Given the description of an element on the screen output the (x, y) to click on. 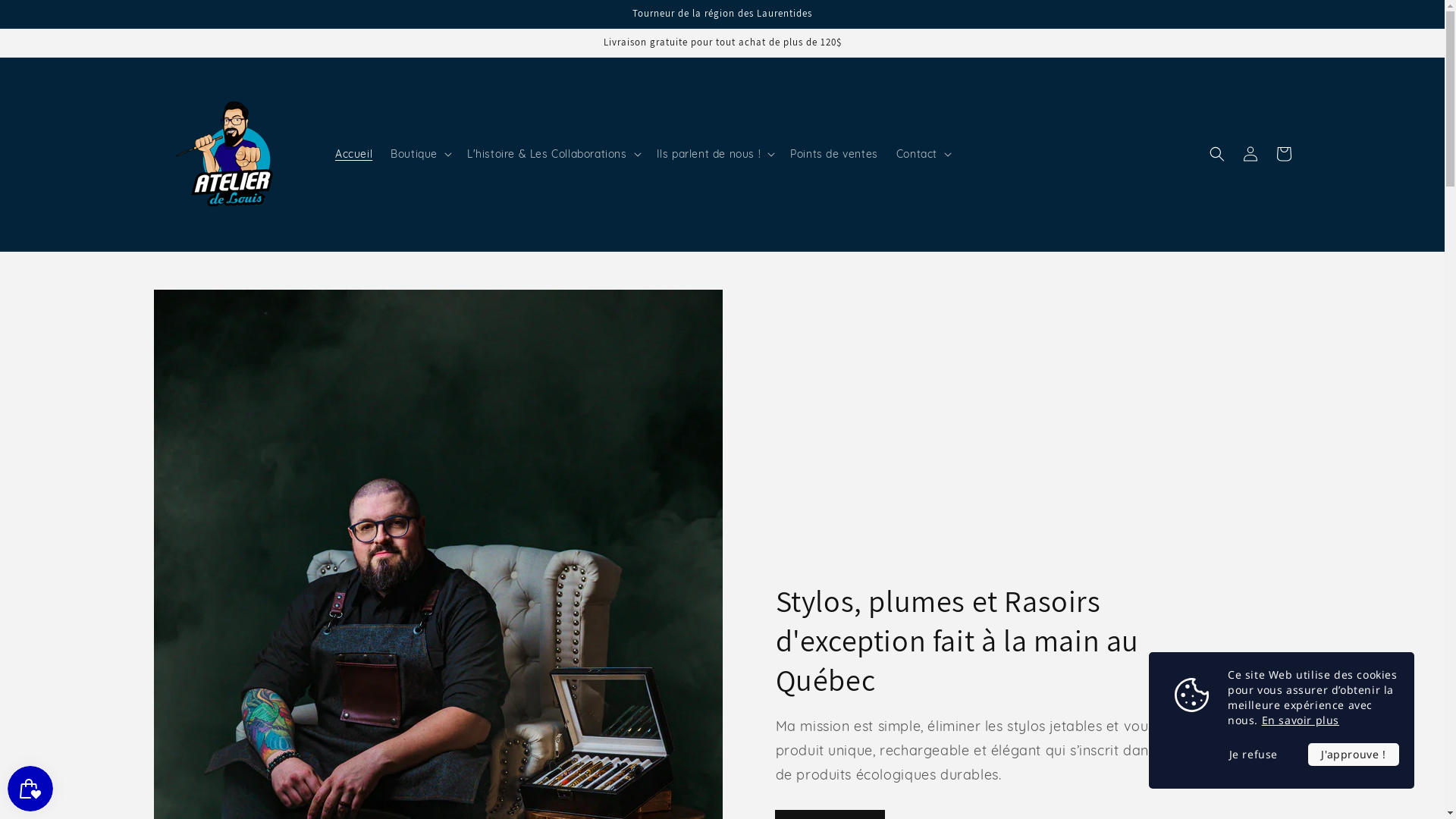
Points de ventes Element type: text (834, 153)
Smile.io Rewards Program Launcher Element type: hover (30, 788)
Accueil Element type: text (353, 153)
Connexion Element type: text (1249, 153)
En savoir plus Element type: text (1300, 719)
Panier Element type: text (1282, 153)
